Given the description of an element on the screen output the (x, y) to click on. 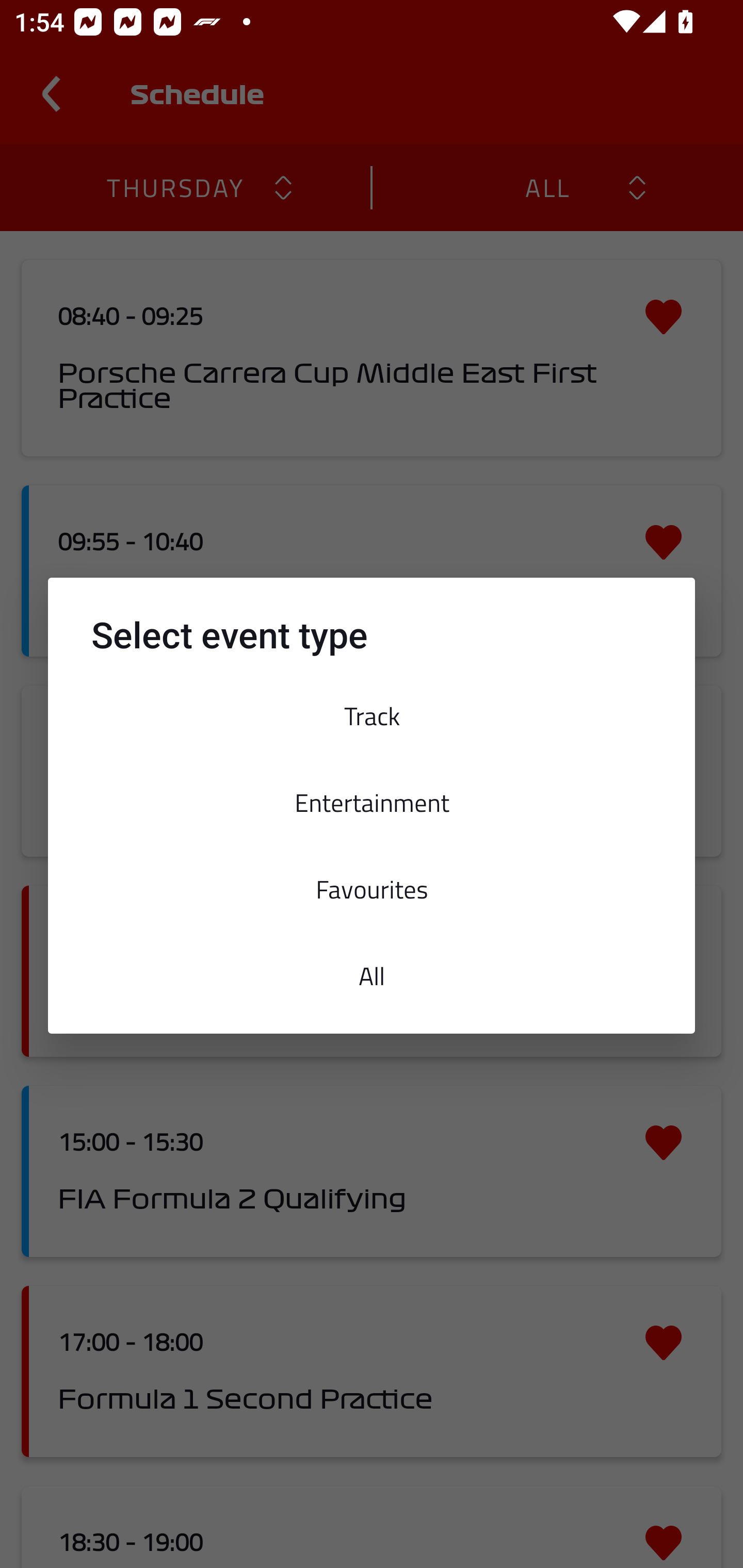
Track (371, 715)
Entertainment (371, 801)
Favourites (371, 888)
All (371, 975)
